Given the description of an element on the screen output the (x, y) to click on. 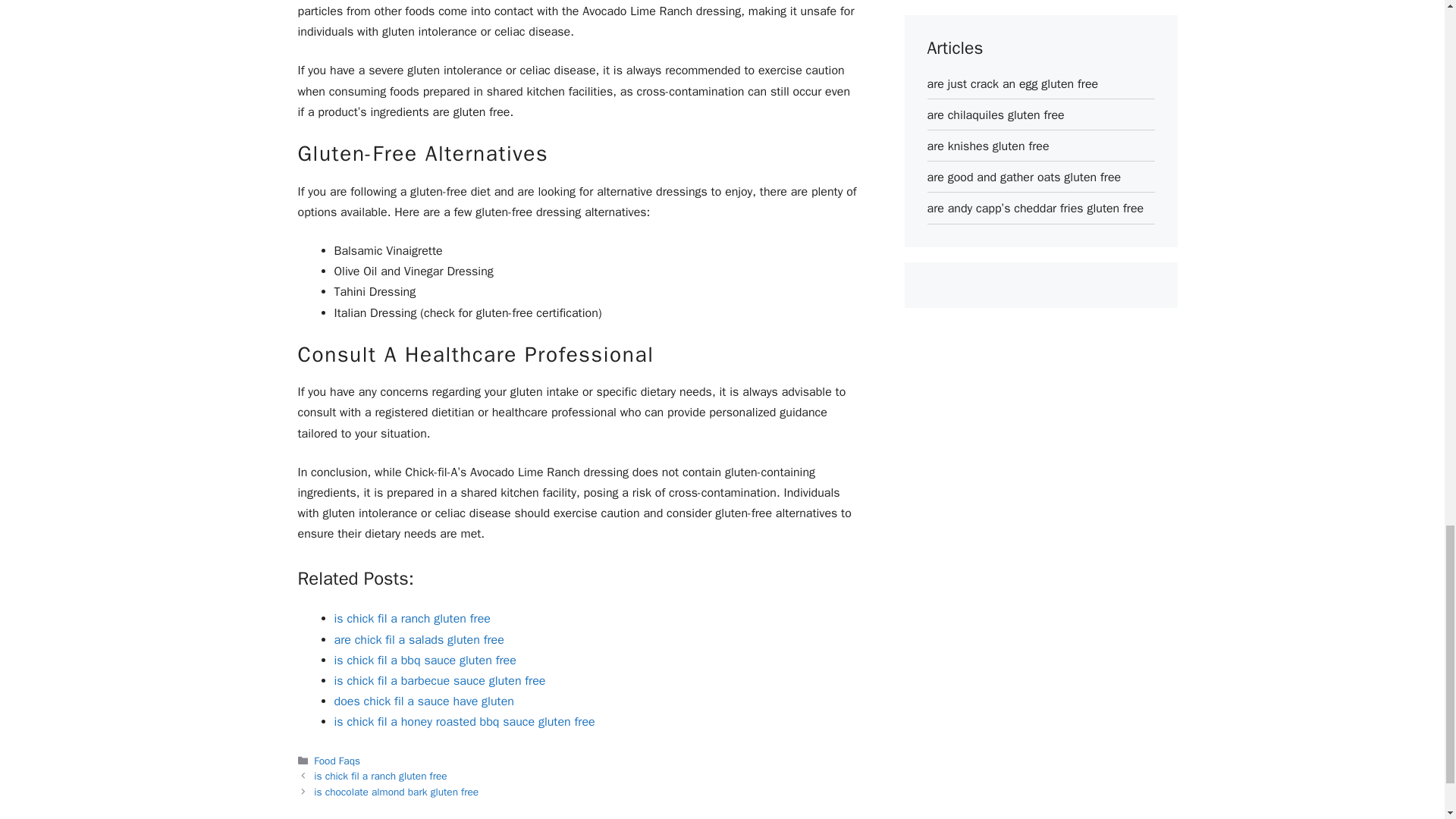
Food Faqs (336, 760)
are chick fil a salads gluten free (418, 639)
is chick fil a bbq sauce gluten free (424, 660)
is chick fil a ranch gluten free (411, 618)
is chick fil a honey roasted bbq sauce gluten free (463, 721)
is chick fil a barbecue sauce gluten free (438, 680)
is chick fil a ranch gluten free (380, 775)
is chocolate almond bark gluten free (396, 791)
does chick fil a sauce have gluten (423, 701)
